Given the description of an element on the screen output the (x, y) to click on. 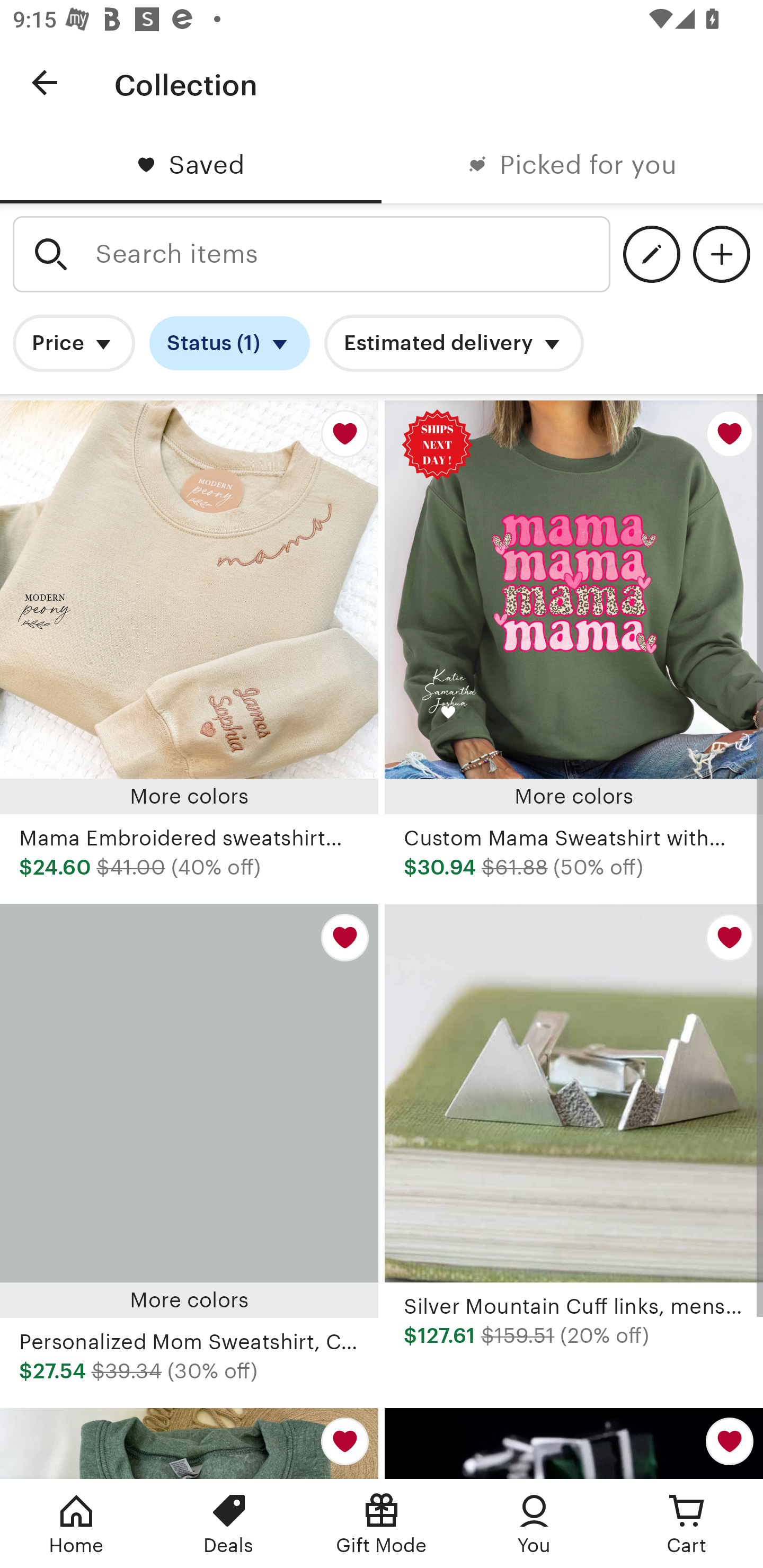
Navigate up (44, 82)
Picked for you, tab 2 of 2 Picked for you (572, 165)
Search items (311, 253)
Edit collection (651, 253)
Create collection (721, 253)
Price (73, 343)
Status (1) (229, 343)
Estimated delivery (453, 343)
Home (76, 1523)
Gift Mode (381, 1523)
You (533, 1523)
Cart (686, 1523)
